Given the description of an element on the screen output the (x, y) to click on. 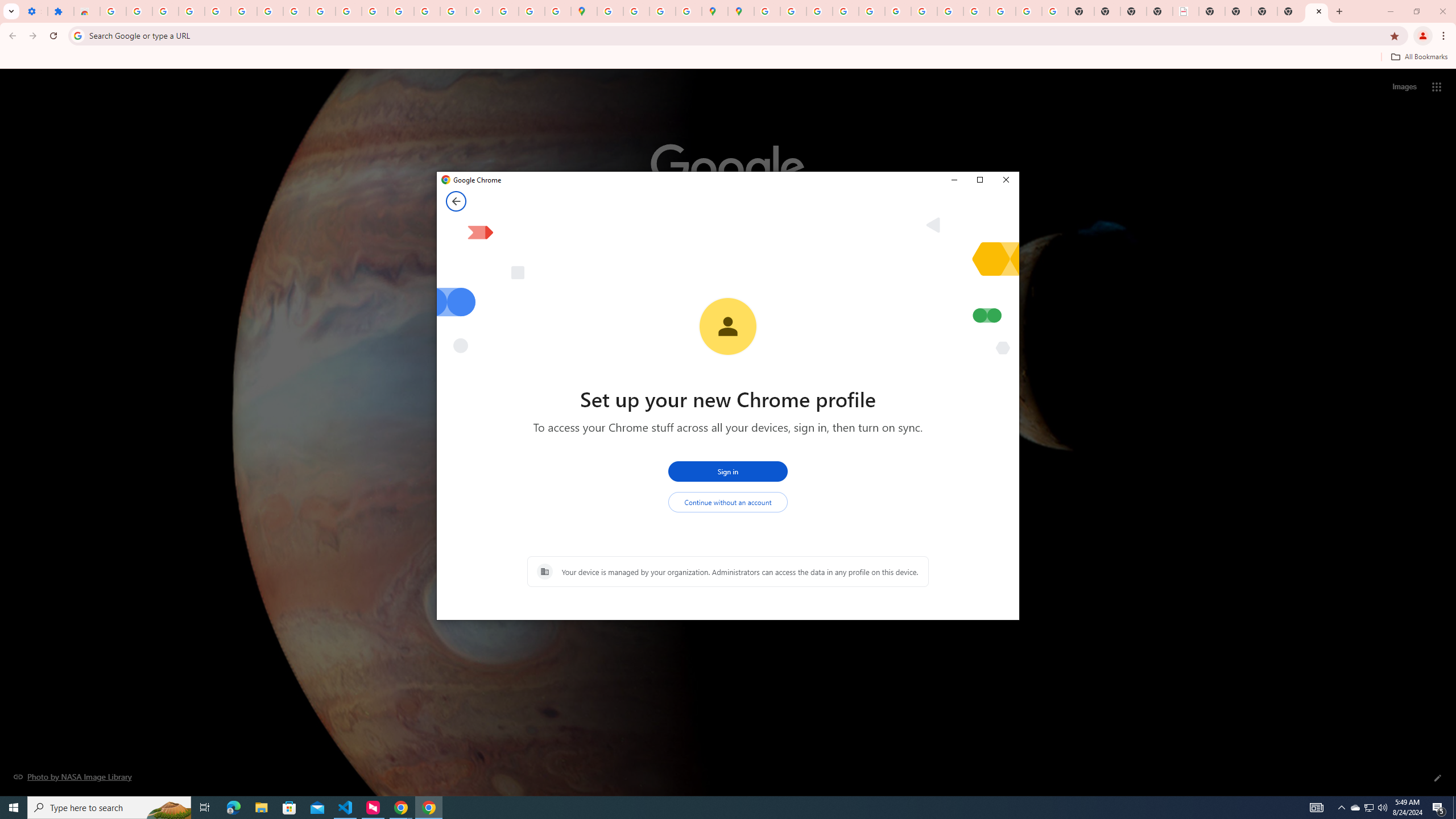
Start (13, 807)
Privacy Help Center - Policies Help (818, 11)
User Promoted Notification Area (1368, 807)
YouTube (1368, 807)
New Tab (923, 11)
Running applications (1316, 11)
LAAD Defence & Security 2025 | BAE Systems (717, 807)
Microsoft Edge (1185, 11)
